Given the description of an element on the screen output the (x, y) to click on. 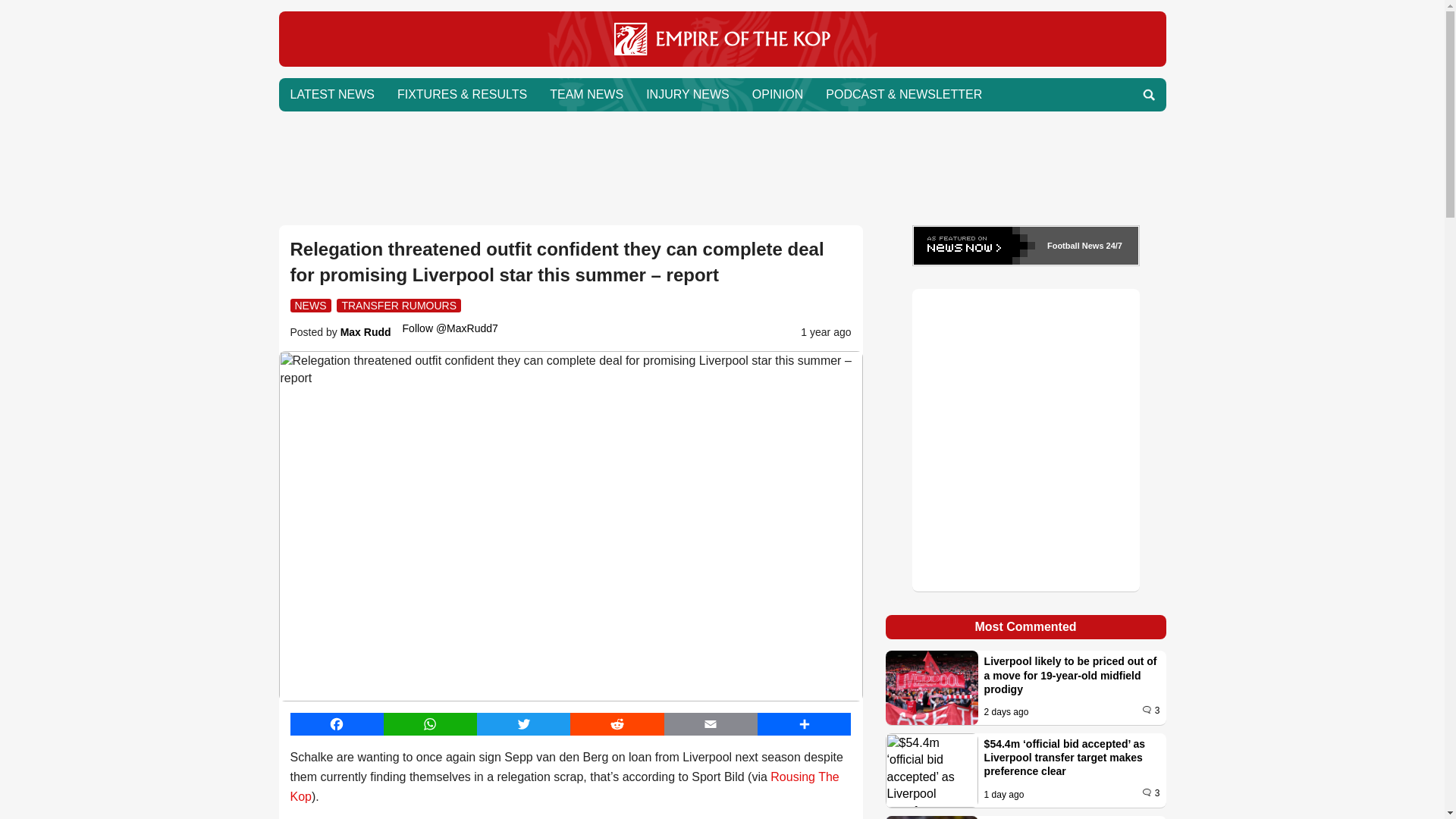
NEWS (309, 305)
INJURY NEWS (687, 94)
Empire Of The Kop Podcast (902, 94)
Twitter (523, 723)
Latest Liverpool News (332, 94)
TRANSFER RUMOURS (398, 305)
Max Rudd (365, 331)
LATEST NEWS (332, 94)
Liverpool Opinion Pieces (778, 94)
Reddit (616, 723)
Email (710, 723)
Liverpool Injury News (687, 94)
Search (1147, 94)
OPINION (778, 94)
Liverpool Line-Ups and Team News (586, 94)
